Given the description of an element on the screen output the (x, y) to click on. 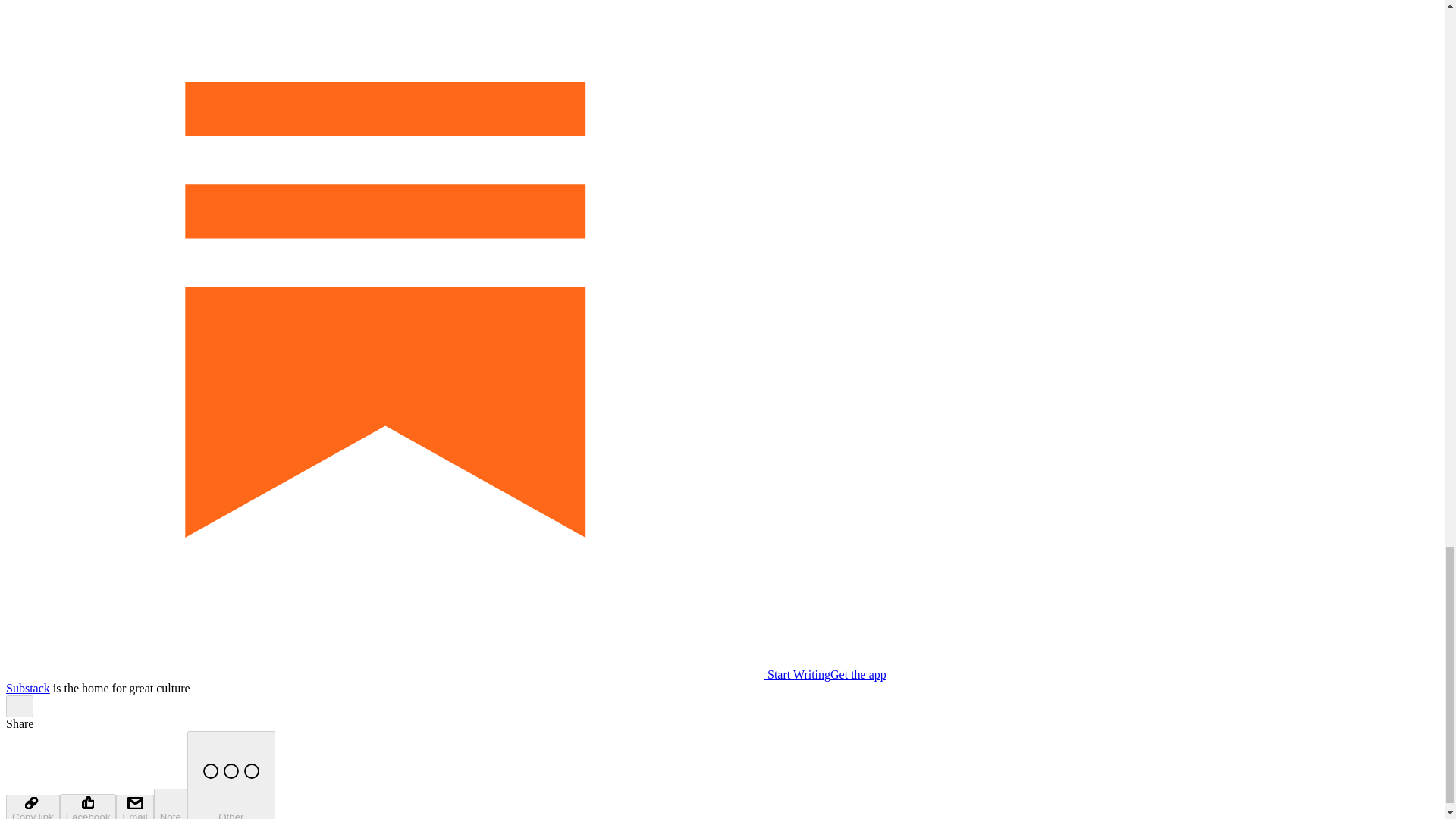
Start Writing (417, 674)
Get the app (857, 674)
Substack (27, 687)
